Given the description of an element on the screen output the (x, y) to click on. 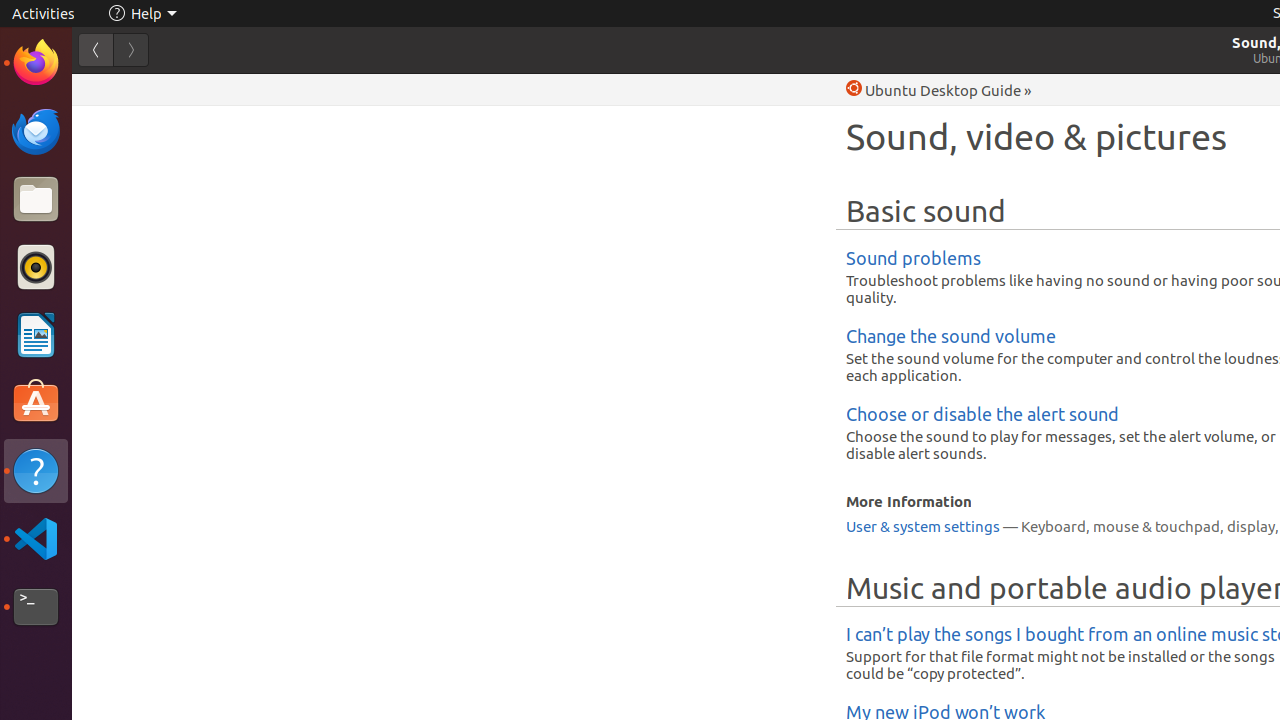
luyi1 Element type: label (133, 89)
IsaHelpMain.desktop Element type: label (133, 300)
Trash Element type: label (133, 191)
